Given the description of an element on the screen output the (x, y) to click on. 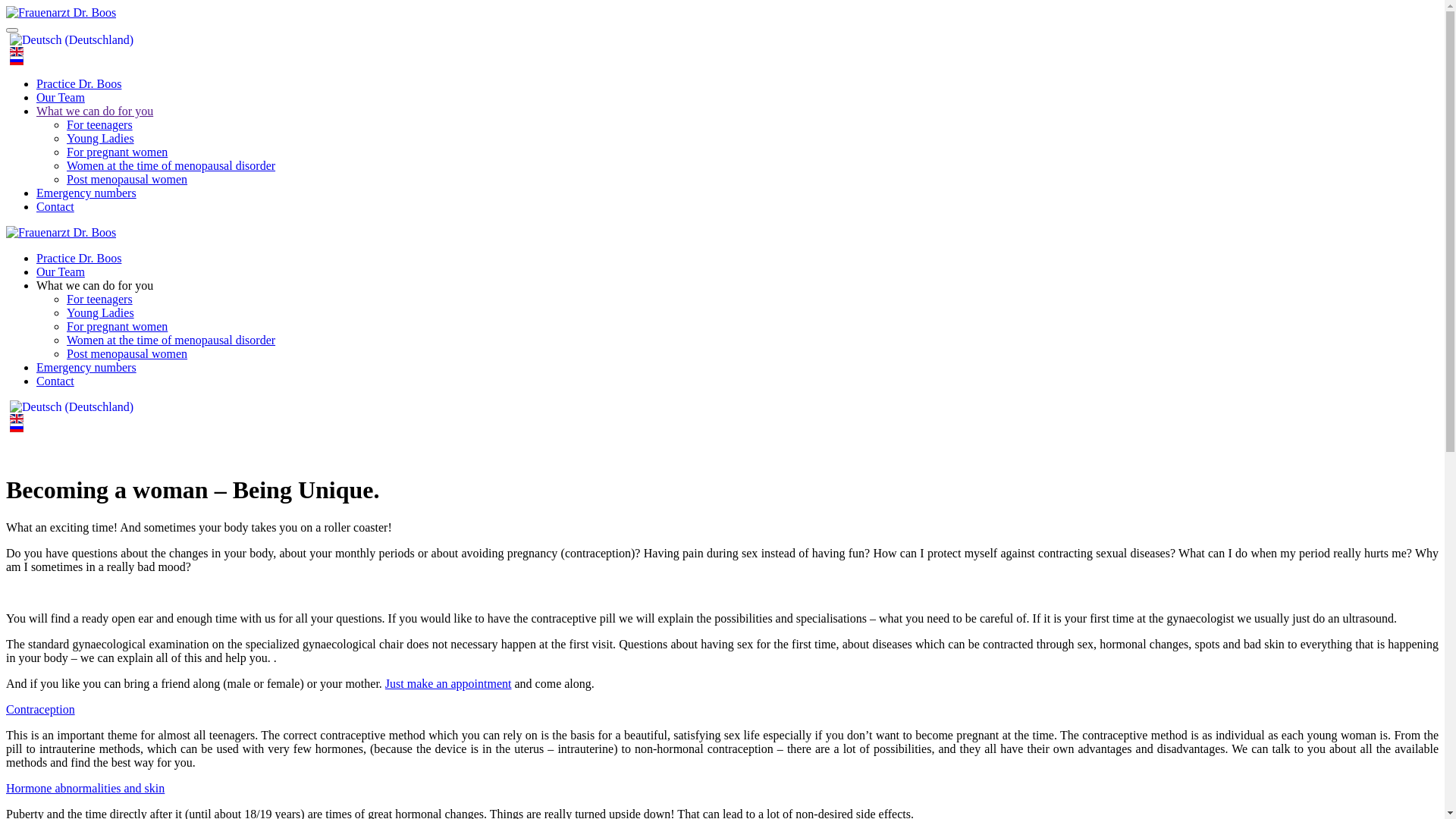
Our Team Element type: text (60, 97)
Our Team Element type: text (60, 271)
Just make an appointment Element type: text (448, 683)
Contraception Element type: text (40, 708)
English (United Kingdom) Element type: hover (16, 51)
Hormone abnormalities and skin Element type: text (85, 787)
Deutsch (Deutschland) Element type: hover (71, 407)
Emergency numbers Element type: text (86, 366)
Post menopausal women Element type: text (126, 178)
Post menopausal women Element type: text (126, 353)
For pregnant women Element type: text (116, 151)
For teenagers Element type: text (99, 124)
Emergency numbers Element type: text (86, 192)
Contact Element type: text (55, 206)
English (United Kingdom) Element type: hover (16, 418)
What we can do for you Element type: text (94, 285)
Women at the time of menopausal disorder Element type: text (170, 339)
Young Ladies Element type: text (100, 312)
Practice Dr. Boos Element type: text (78, 83)
Practice Dr. Boos Element type: text (78, 257)
Women at the time of menopausal disorder Element type: text (170, 165)
Young Ladies Element type: text (100, 137)
For teenagers Element type: text (99, 298)
What we can do for you Element type: text (94, 110)
Contact Element type: text (55, 380)
For pregnant women Element type: text (116, 326)
Deutsch (Deutschland) Element type: hover (71, 40)
